Given the description of an element on the screen output the (x, y) to click on. 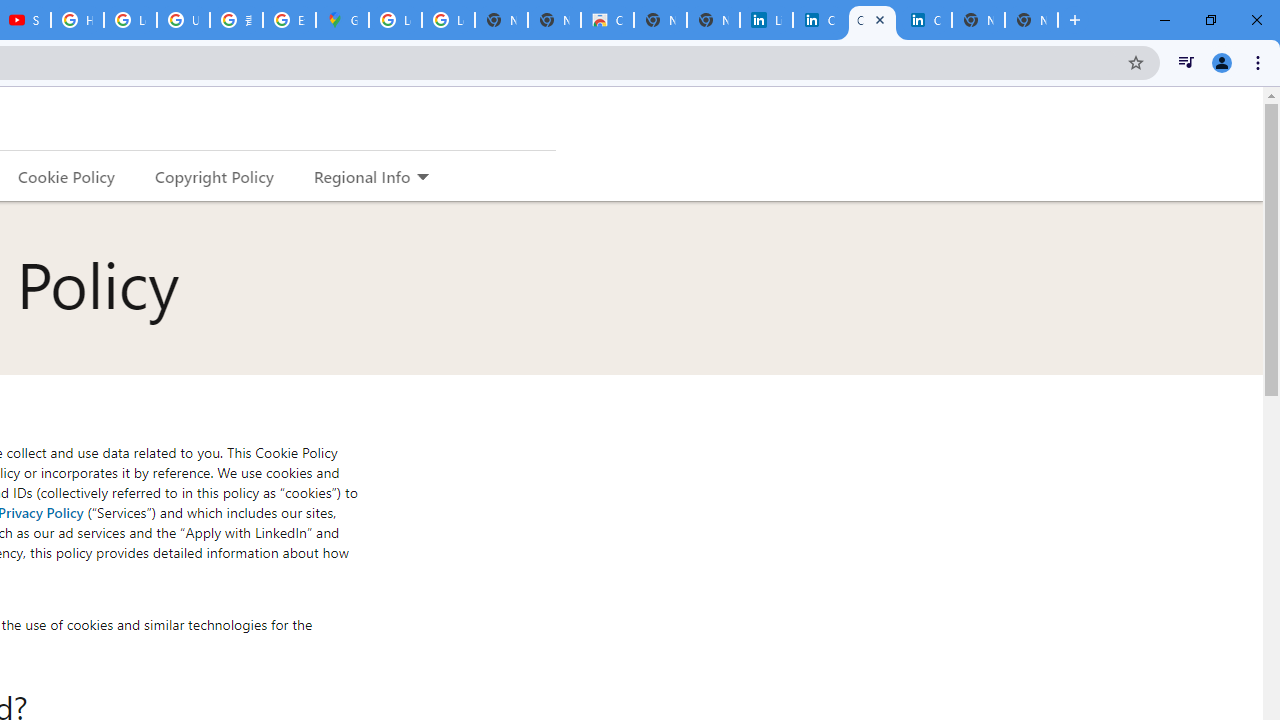
Explore new street-level details - Google Maps Help (289, 20)
LinkedIn Login, Sign in | LinkedIn (766, 20)
New Tab (1031, 20)
Cookie Policy | LinkedIn (819, 20)
Copyright Policy (213, 176)
Google Maps (342, 20)
Copyright Policy (925, 20)
